Given the description of an element on the screen output the (x, y) to click on. 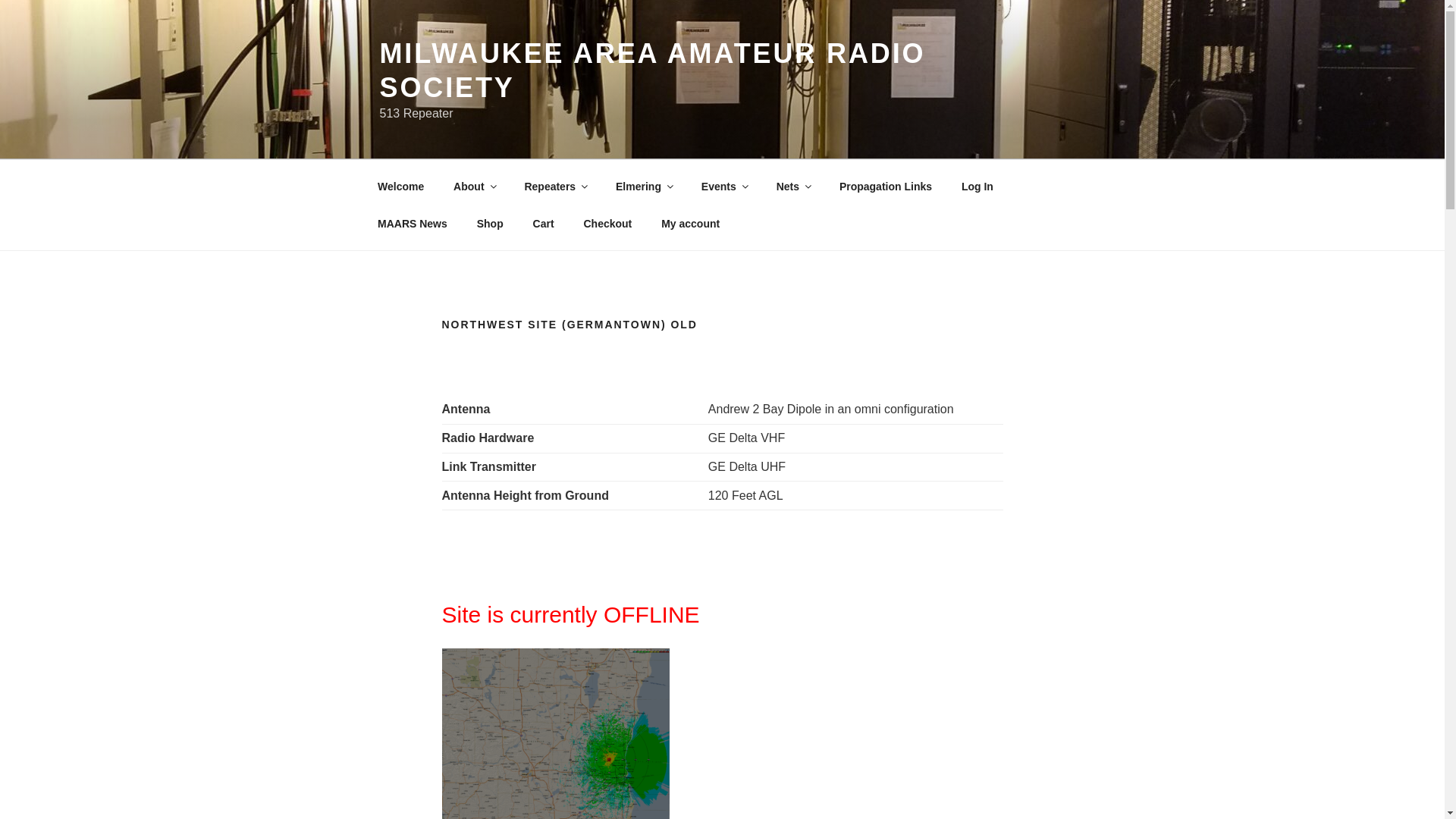
Repeaters (555, 186)
Elmering (643, 186)
MILWAUKEE AREA AMATEUR RADIO SOCIETY (651, 70)
About (474, 186)
Welcome (400, 186)
